Given the description of an element on the screen output the (x, y) to click on. 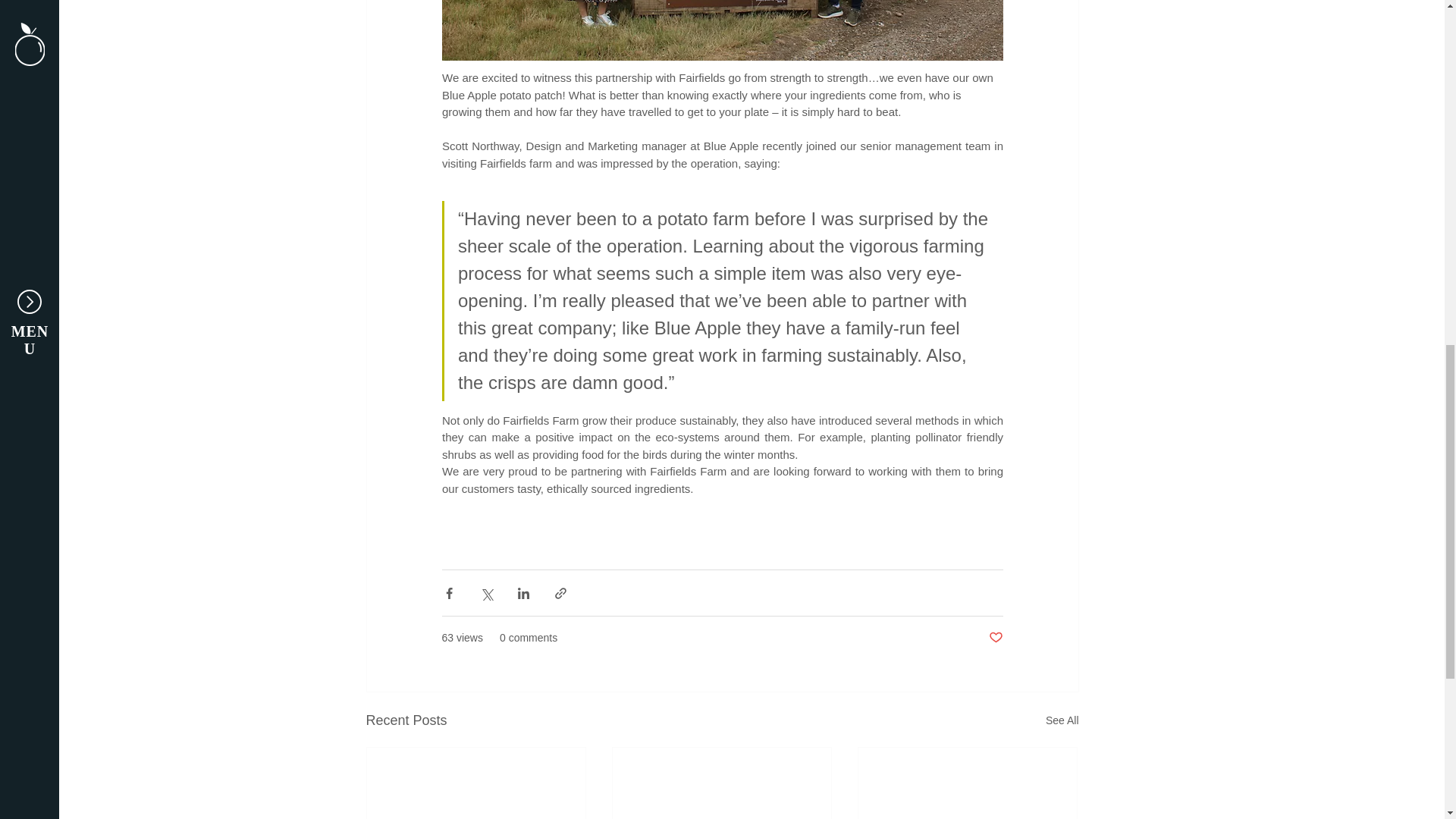
See All (1061, 721)
Post not marked as liked (995, 637)
